Given the description of an element on the screen output the (x, y) to click on. 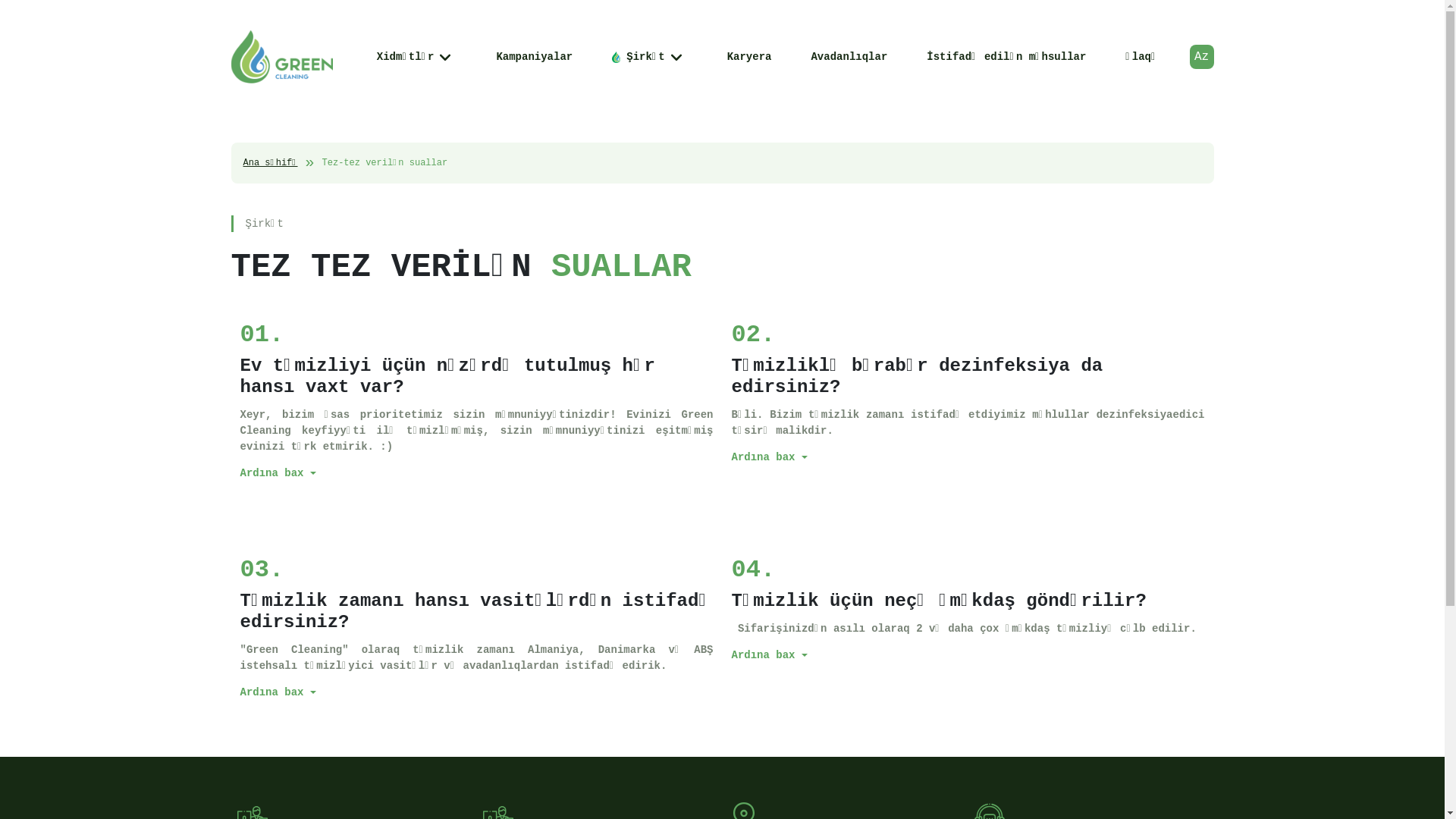
Az Element type: text (1201, 56)
Kampaniyalar Element type: text (533, 56)
Karyera Element type: text (749, 56)
